Given the description of an element on the screen output the (x, y) to click on. 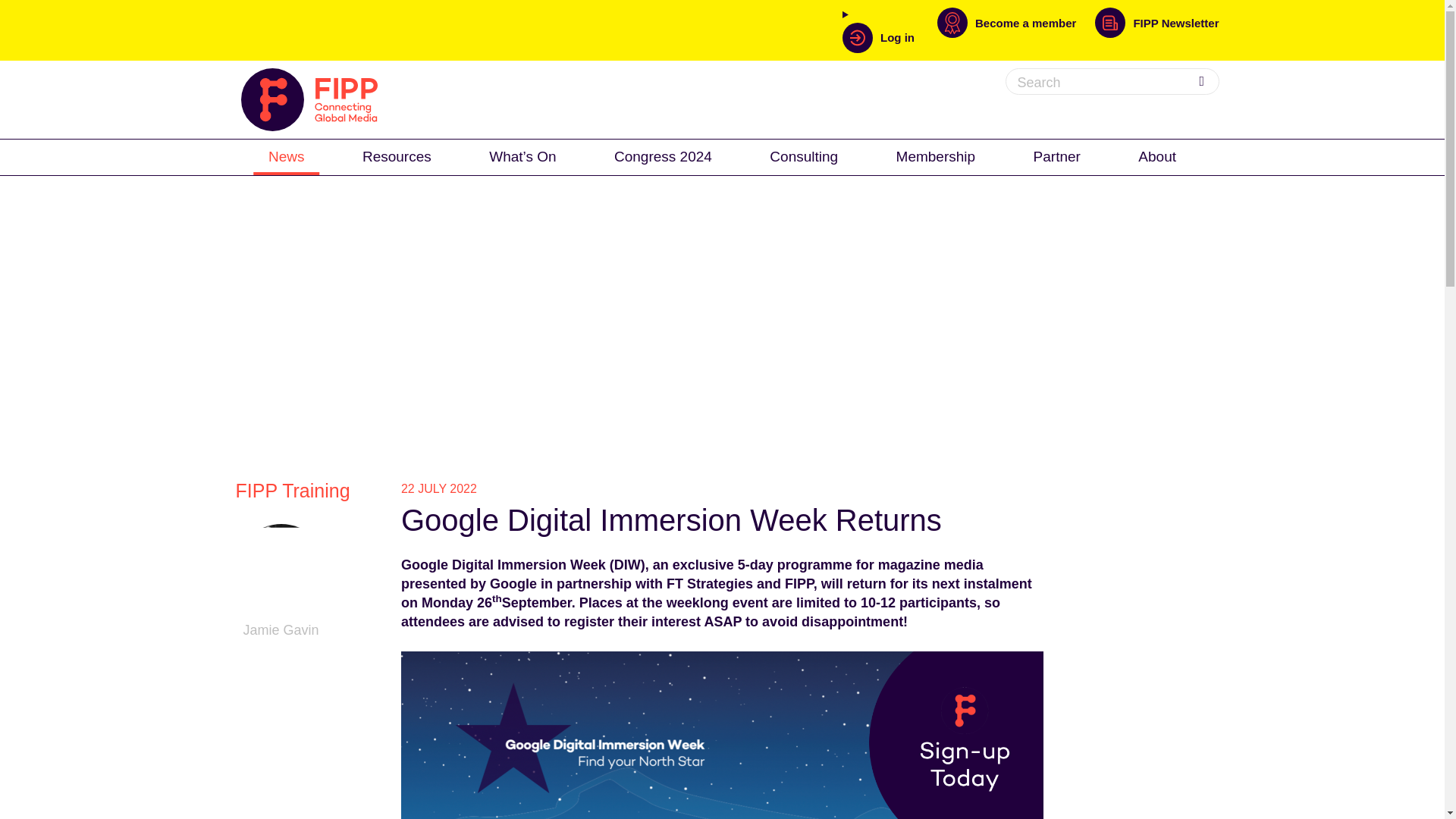
Membership (935, 155)
Congress 2024 (662, 155)
Partner (1056, 155)
Consulting (803, 155)
FIPP Training (292, 490)
News (286, 155)
Resources (396, 155)
Become a member (1015, 30)
About (1156, 155)
FIPP Newsletter (1156, 30)
